Given the description of an element on the screen output the (x, y) to click on. 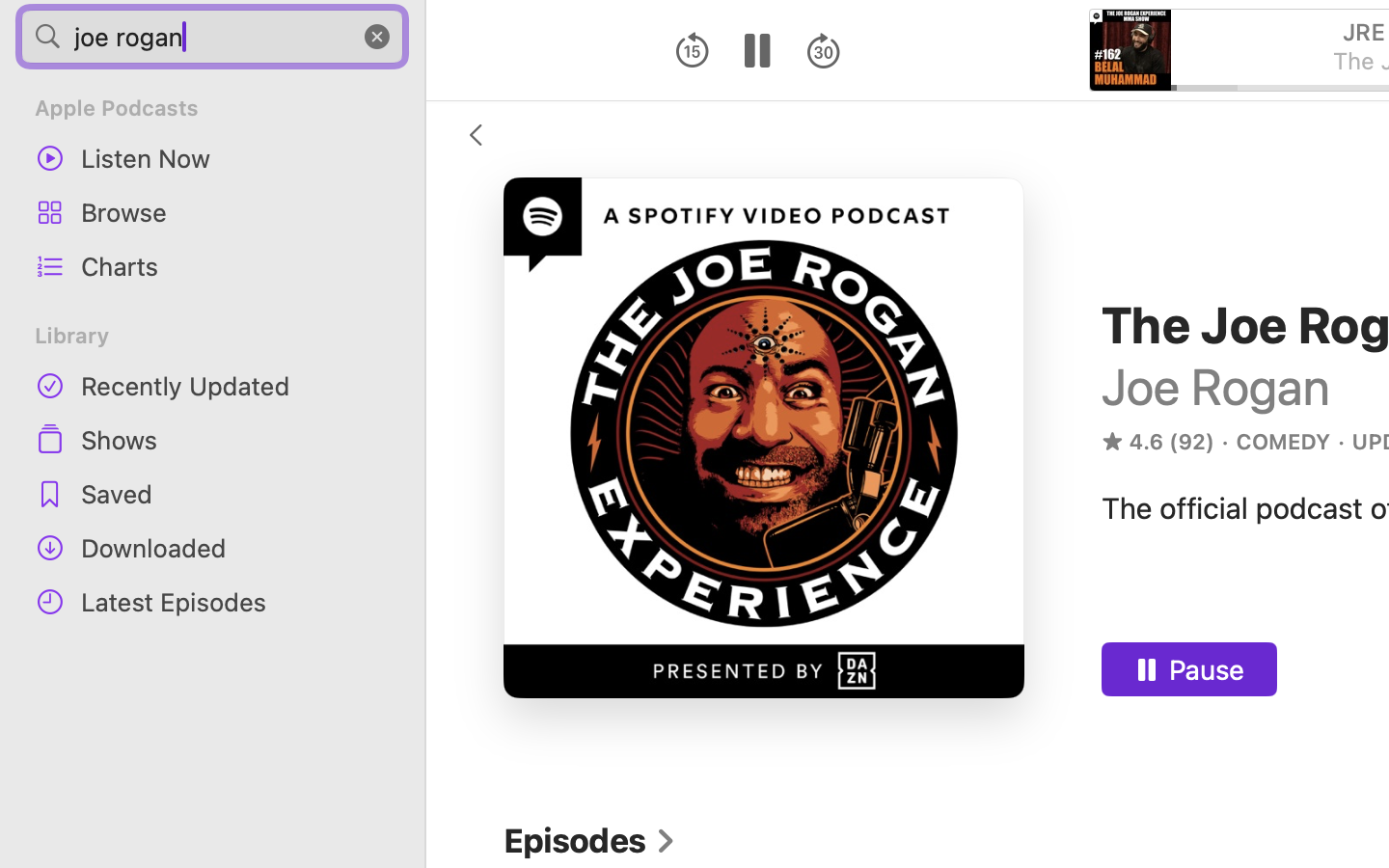
joe rogan Element type: AXTextField (212, 36)
